Given the description of an element on the screen output the (x, y) to click on. 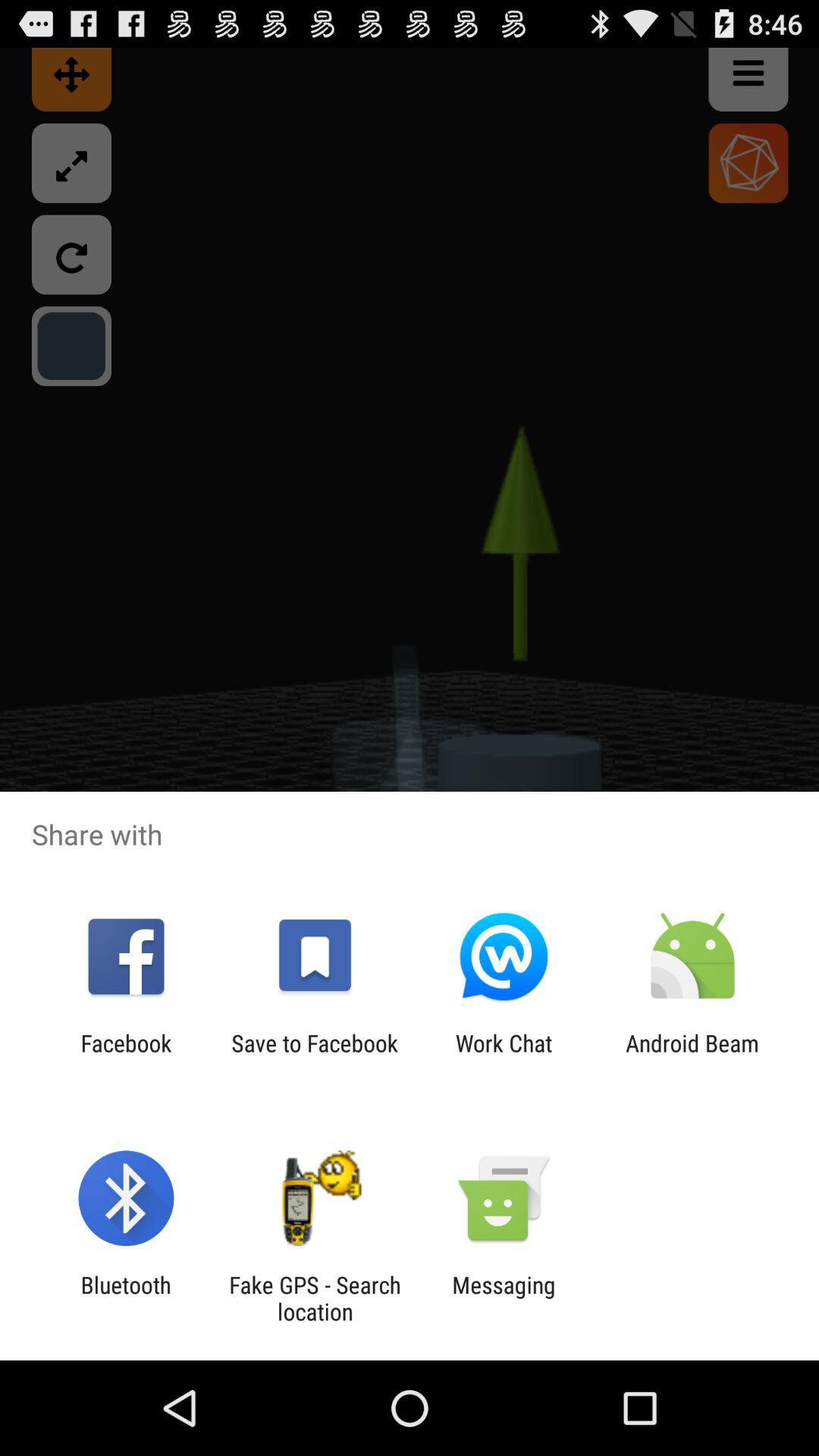
press app to the left of work chat (314, 1056)
